Given the description of an element on the screen output the (x, y) to click on. 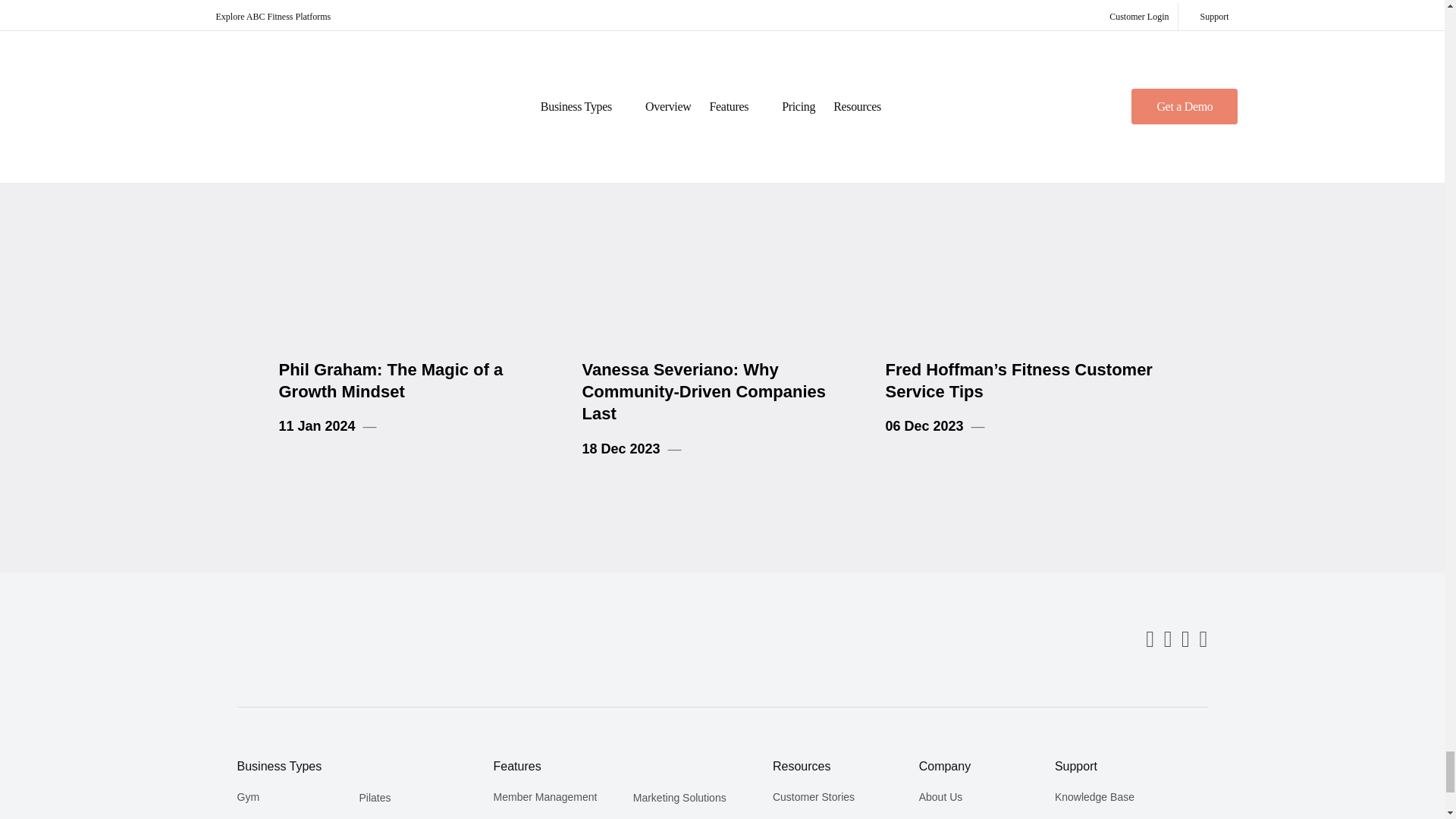
Logo (285, 639)
